Given the description of an element on the screen output the (x, y) to click on. 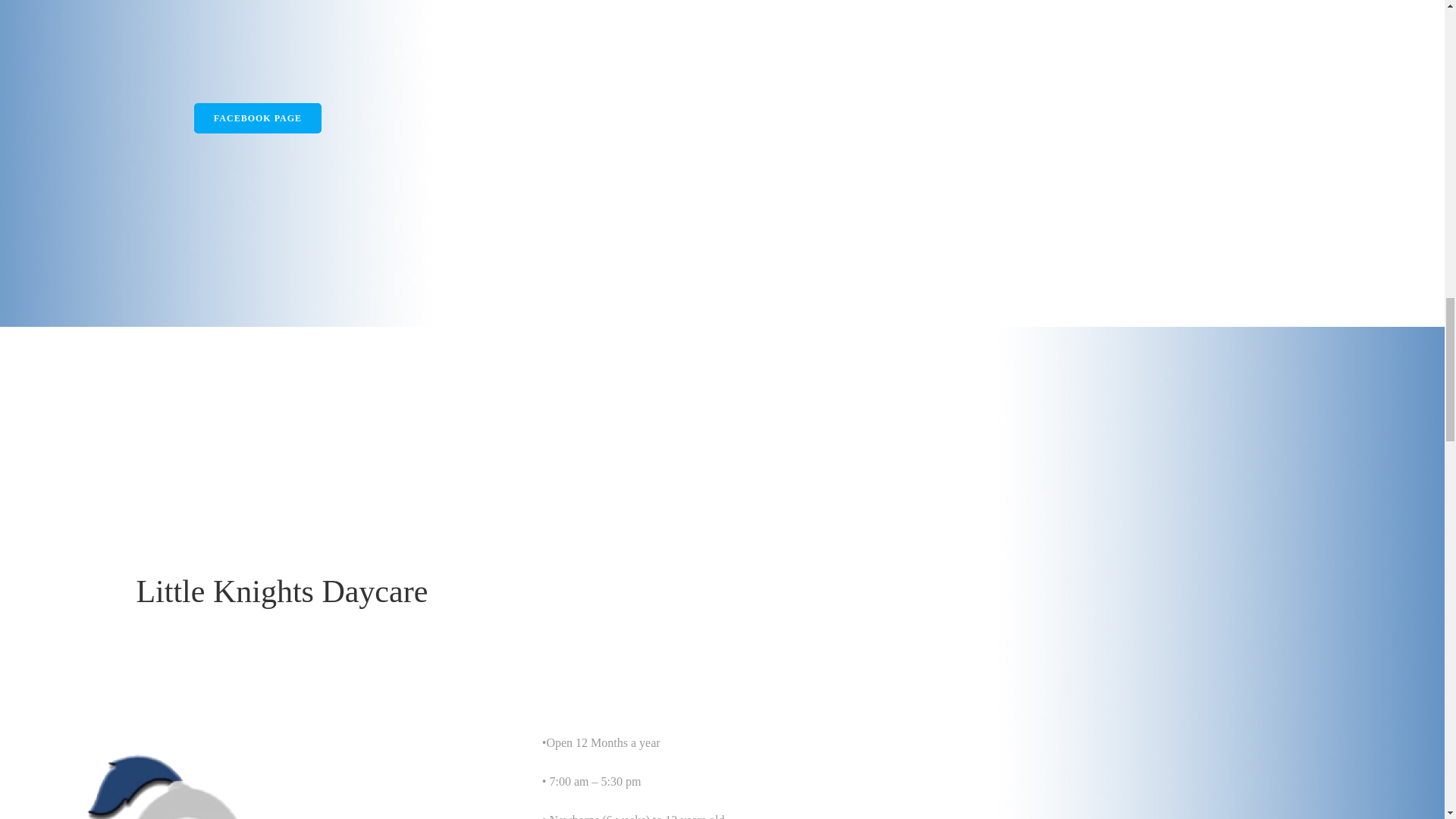
FACEBOOK PAGE (257, 118)
